Given the description of an element on the screen output the (x, y) to click on. 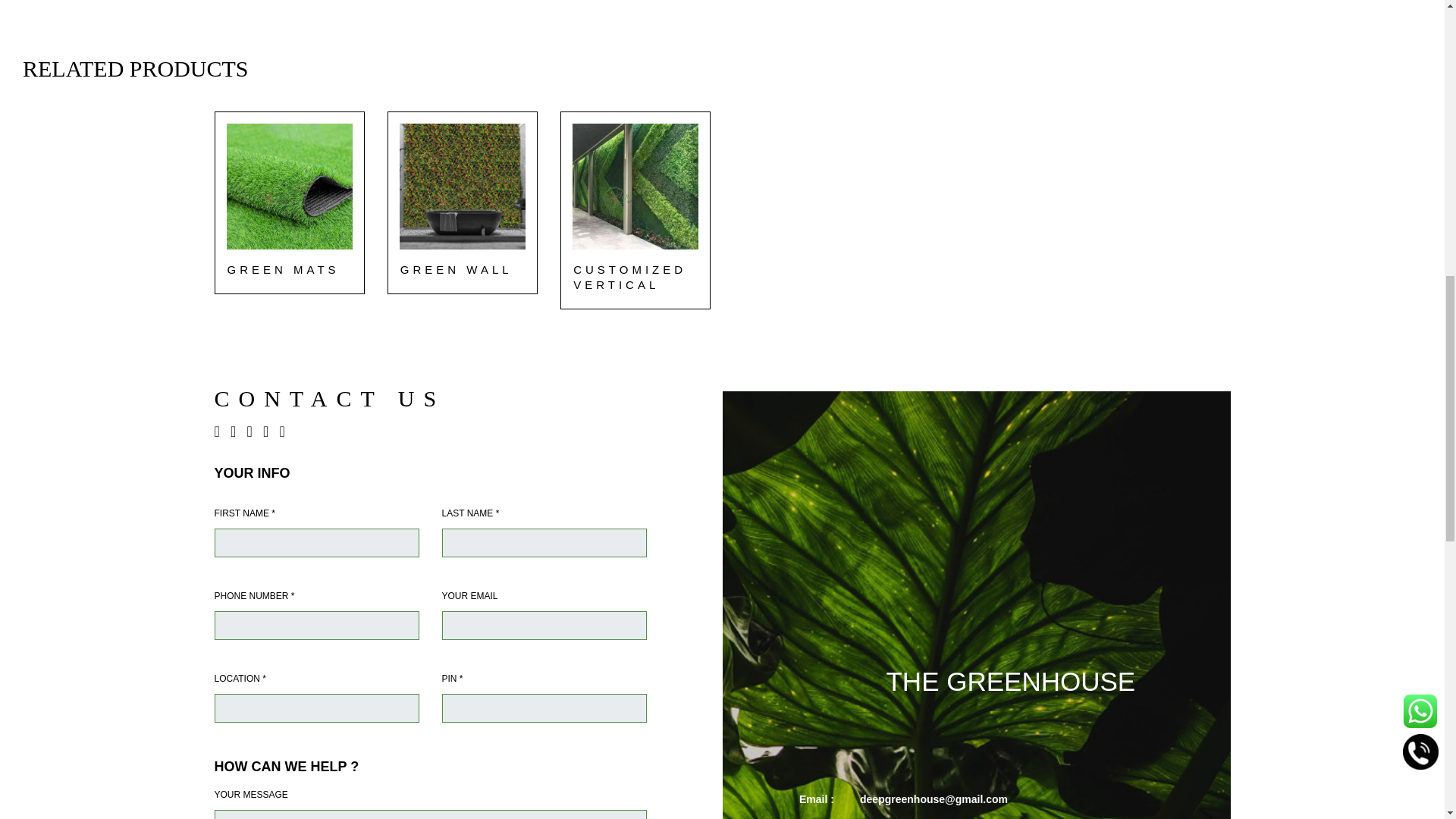
GREEN WALL (456, 269)
CUSTOMIZED VERTICAL (635, 277)
GREEN MATS (283, 269)
